Given the description of an element on the screen output the (x, y) to click on. 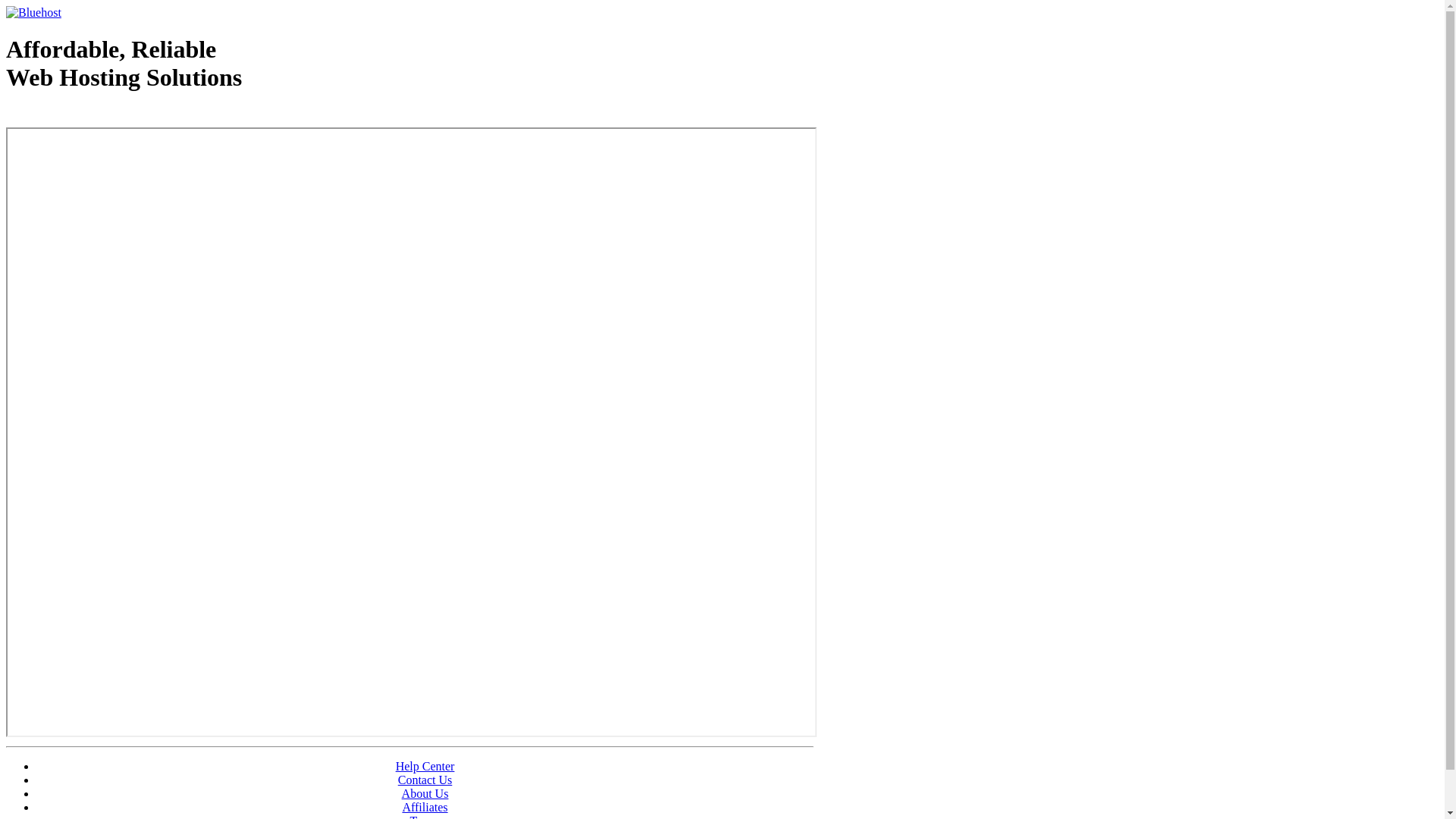
Web Hosting - courtesy of www.bluehost.com Element type: text (94, 115)
About Us Element type: text (424, 793)
Affiliates Element type: text (424, 806)
Contact Us Element type: text (425, 779)
Help Center Element type: text (425, 765)
